Given the description of an element on the screen output the (x, y) to click on. 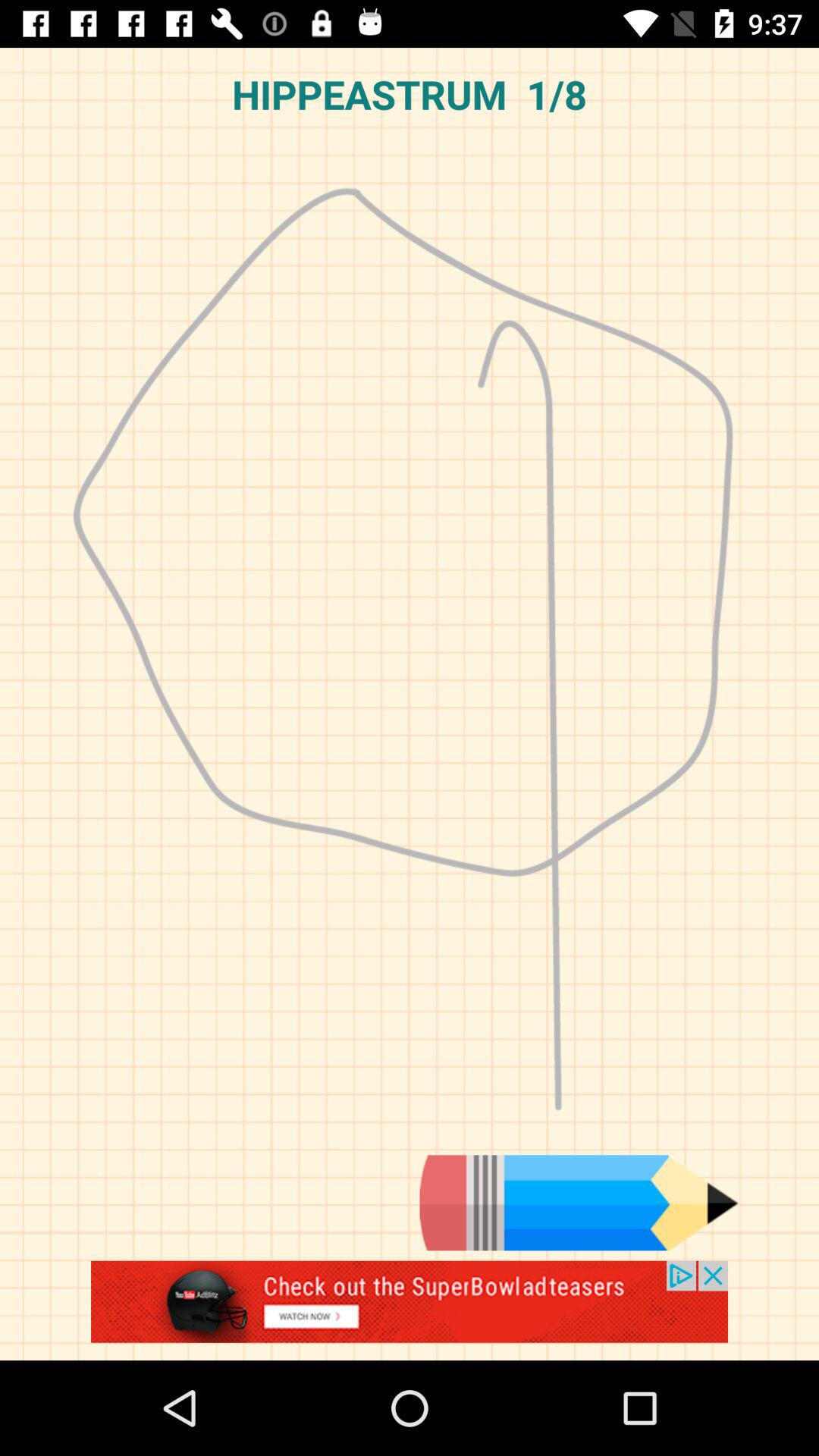
draw option (578, 1202)
